Given the description of an element on the screen output the (x, y) to click on. 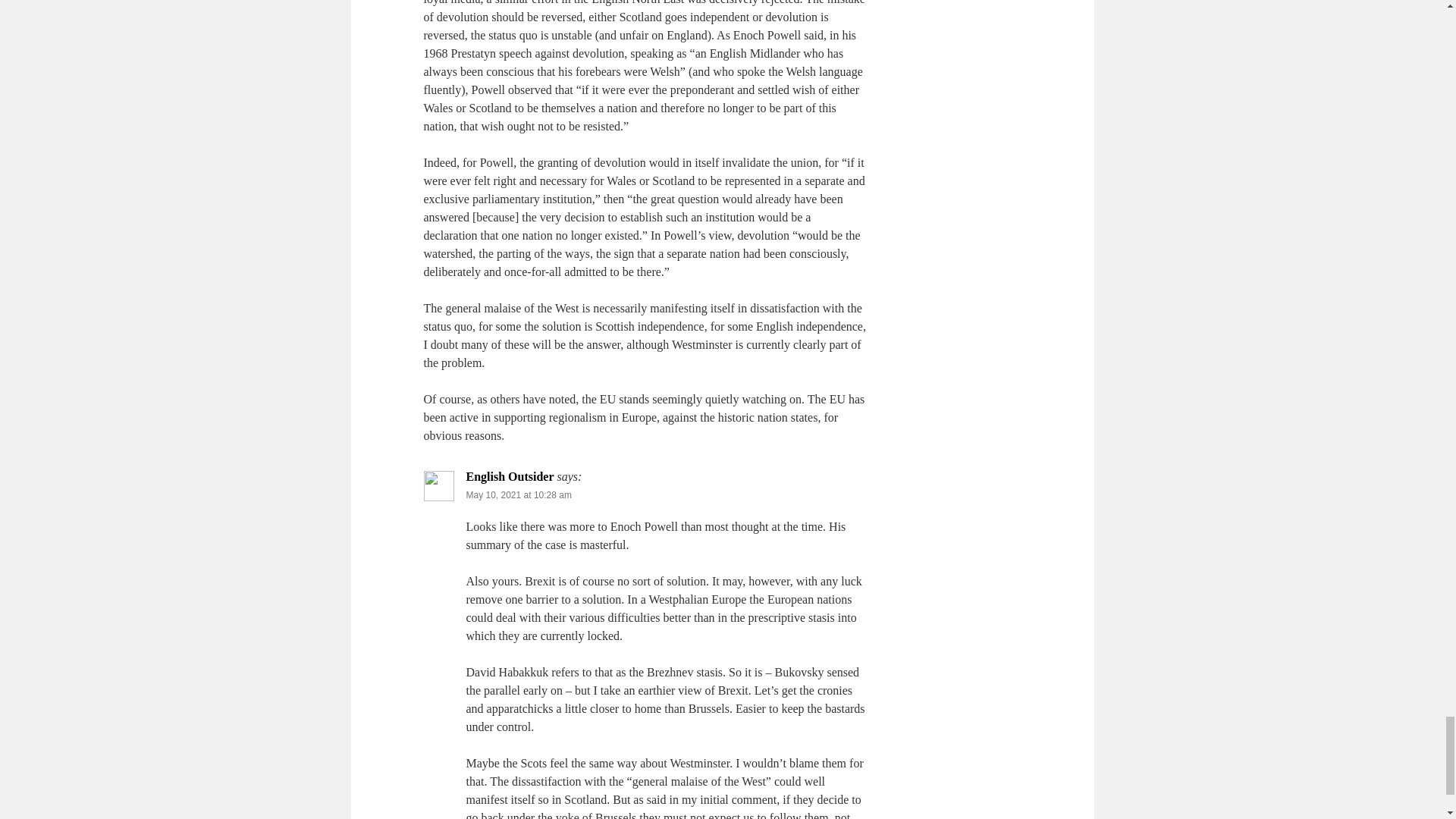
May 10, 2021 at 10:28 am (517, 494)
